Given the description of an element on the screen output the (x, y) to click on. 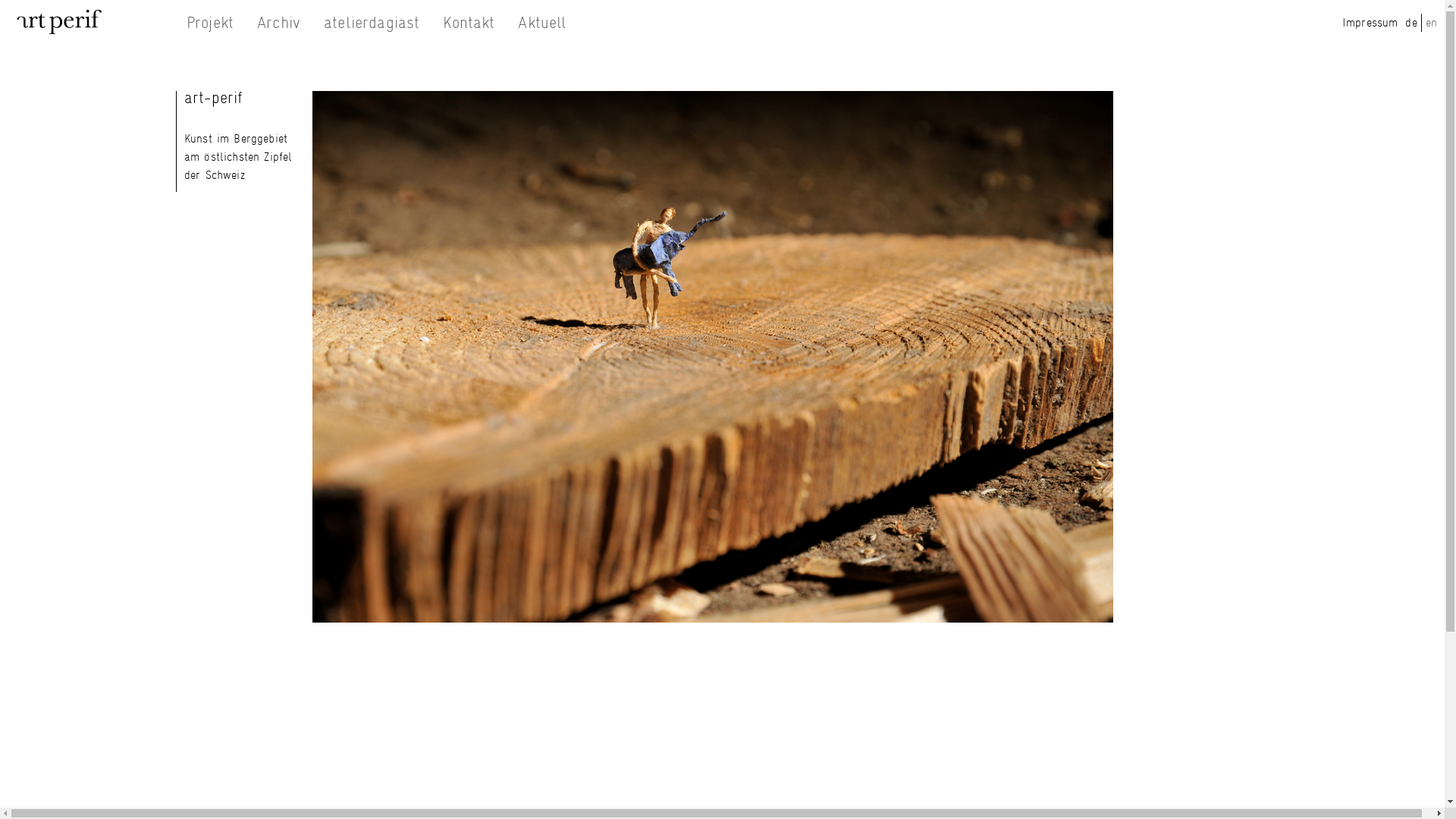
Nicole Dunn
Mann, blauen Elefant tragend 1990 Element type: hover (712, 356)
Impressum Element type: text (1369, 22)
Archiv Element type: text (278, 21)
en Element type: text (1431, 22)
Aktuell Element type: text (541, 21)
Projekt Element type: text (209, 21)
de Element type: text (1410, 22)
Kontakt Element type: text (468, 21)
atelierdagiast Element type: text (371, 21)
